Given the description of an element on the screen output the (x, y) to click on. 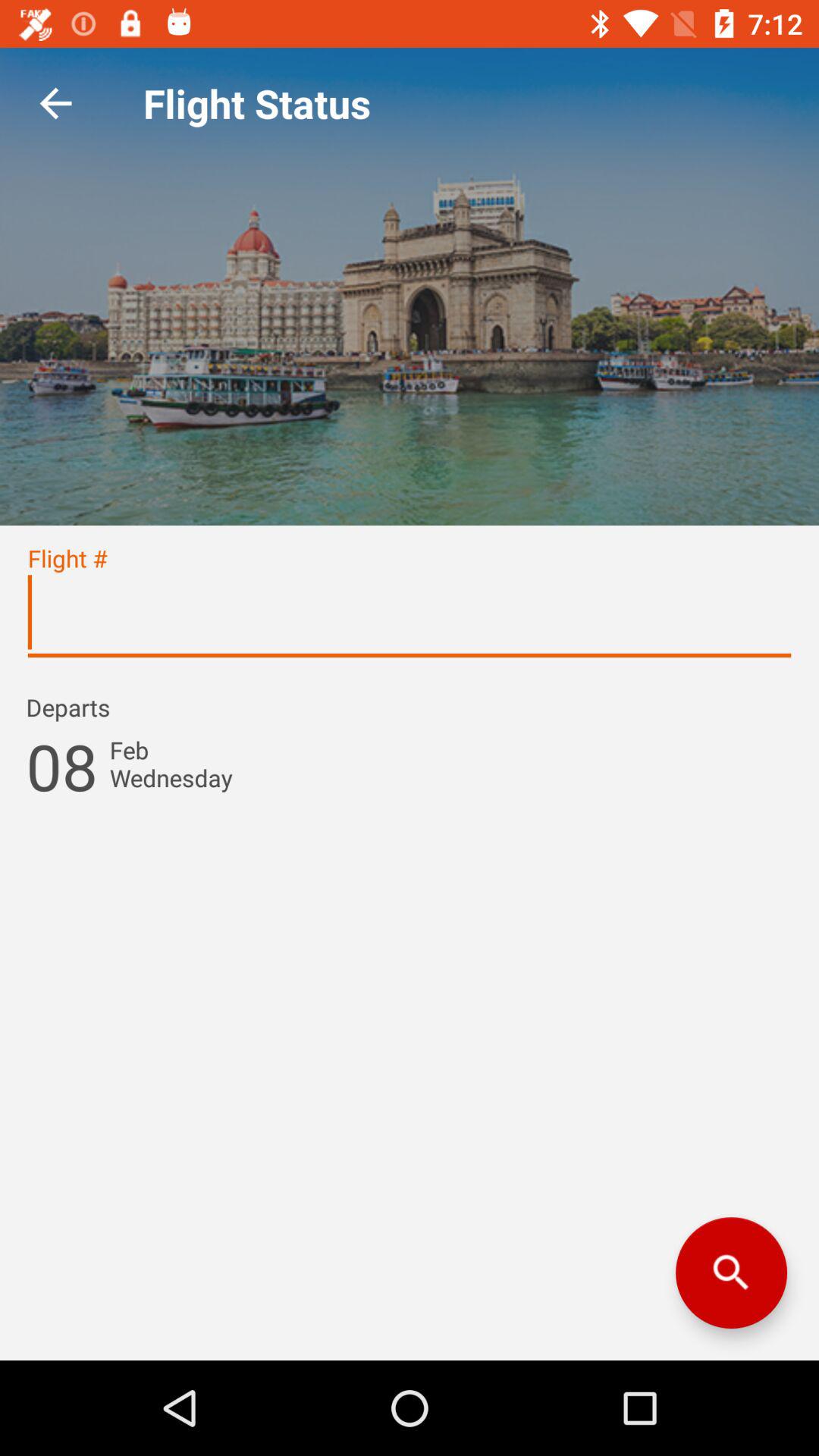
enter flight number (409, 619)
